Given the description of an element on the screen output the (x, y) to click on. 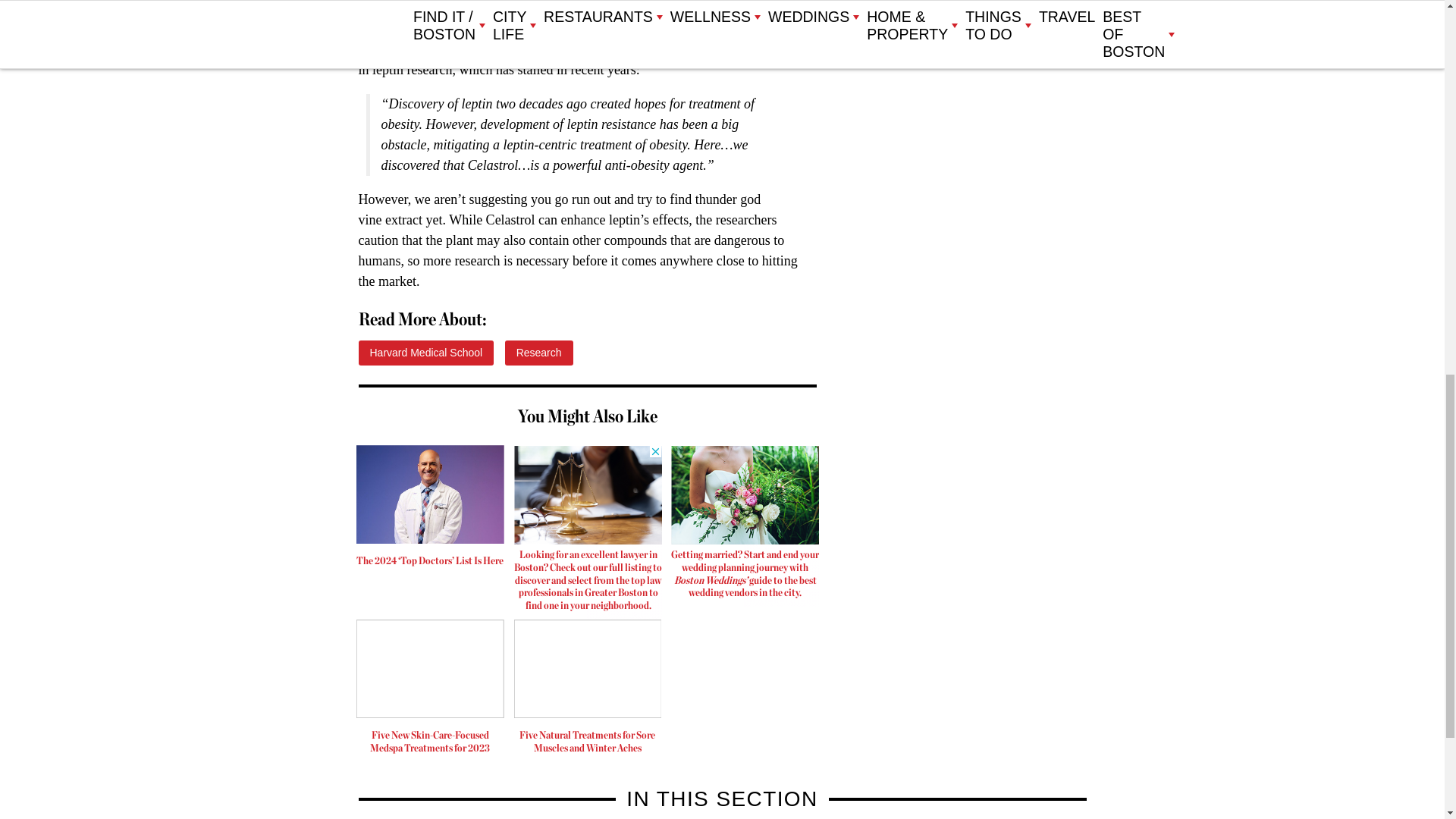
3rd party ad content (969, 106)
3rd party ad content (744, 525)
